Given the description of an element on the screen output the (x, y) to click on. 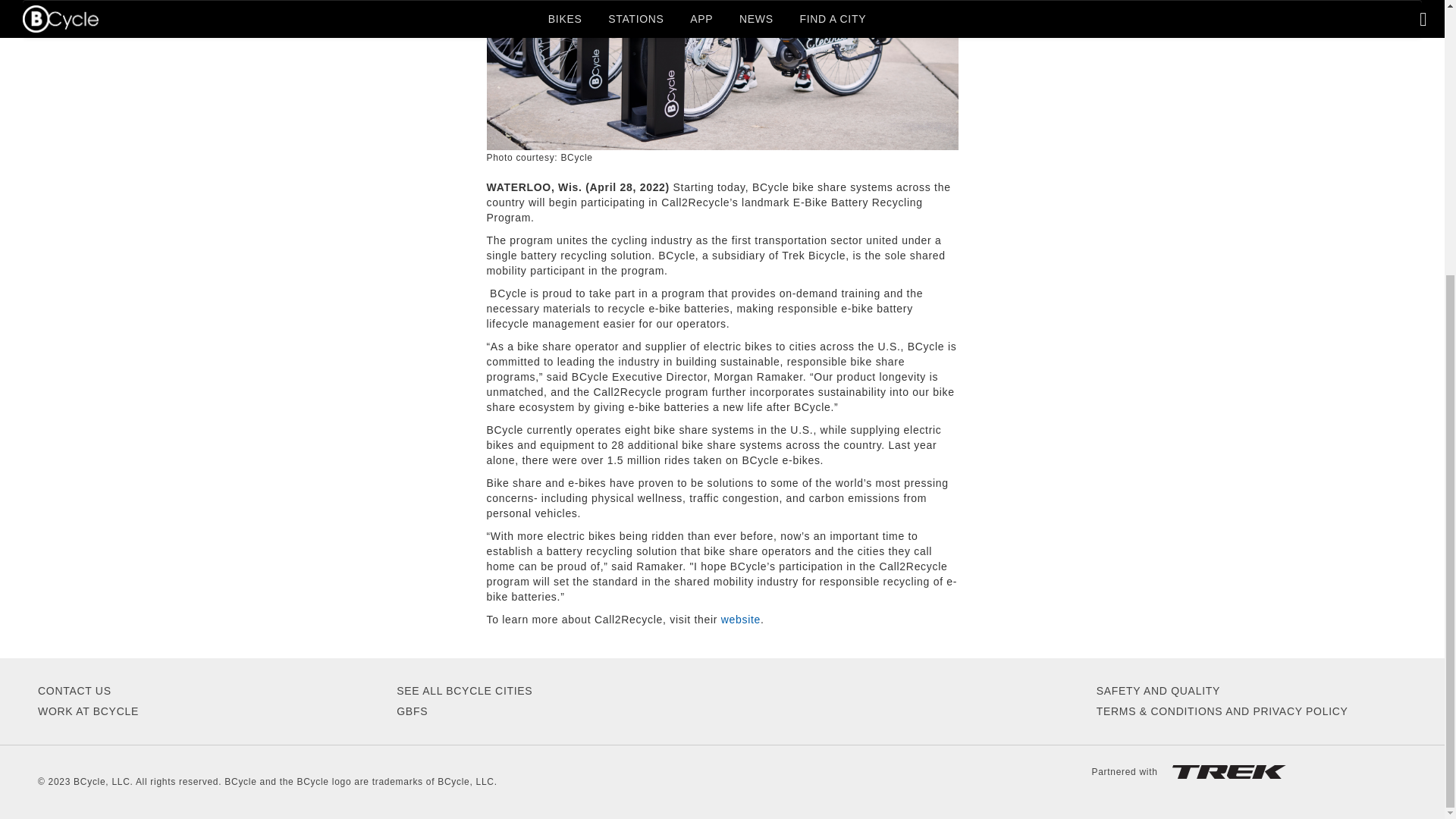
SAFETY AND QUALITY (1158, 690)
BCycle e-bike (722, 74)
website (740, 619)
safety and quality (1158, 690)
CONTACT US (74, 690)
WORK AT BCYCLE (87, 711)
SEE ALL BCYCLE CITIES (464, 690)
GBFS (412, 711)
